Given the description of an element on the screen output the (x, y) to click on. 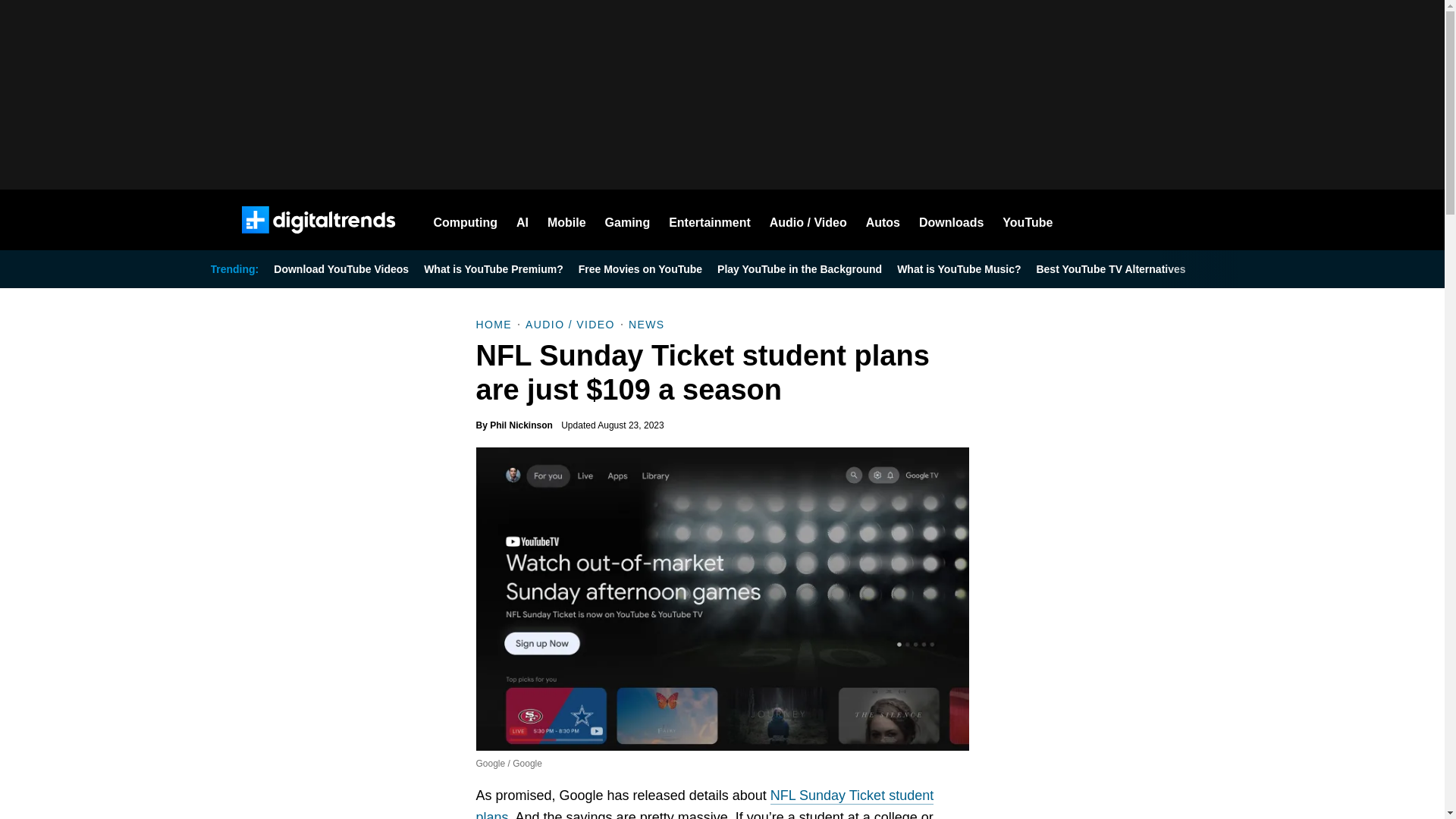
Downloads (951, 219)
Computing (465, 219)
Entertainment (709, 219)
